Given the description of an element on the screen output the (x, y) to click on. 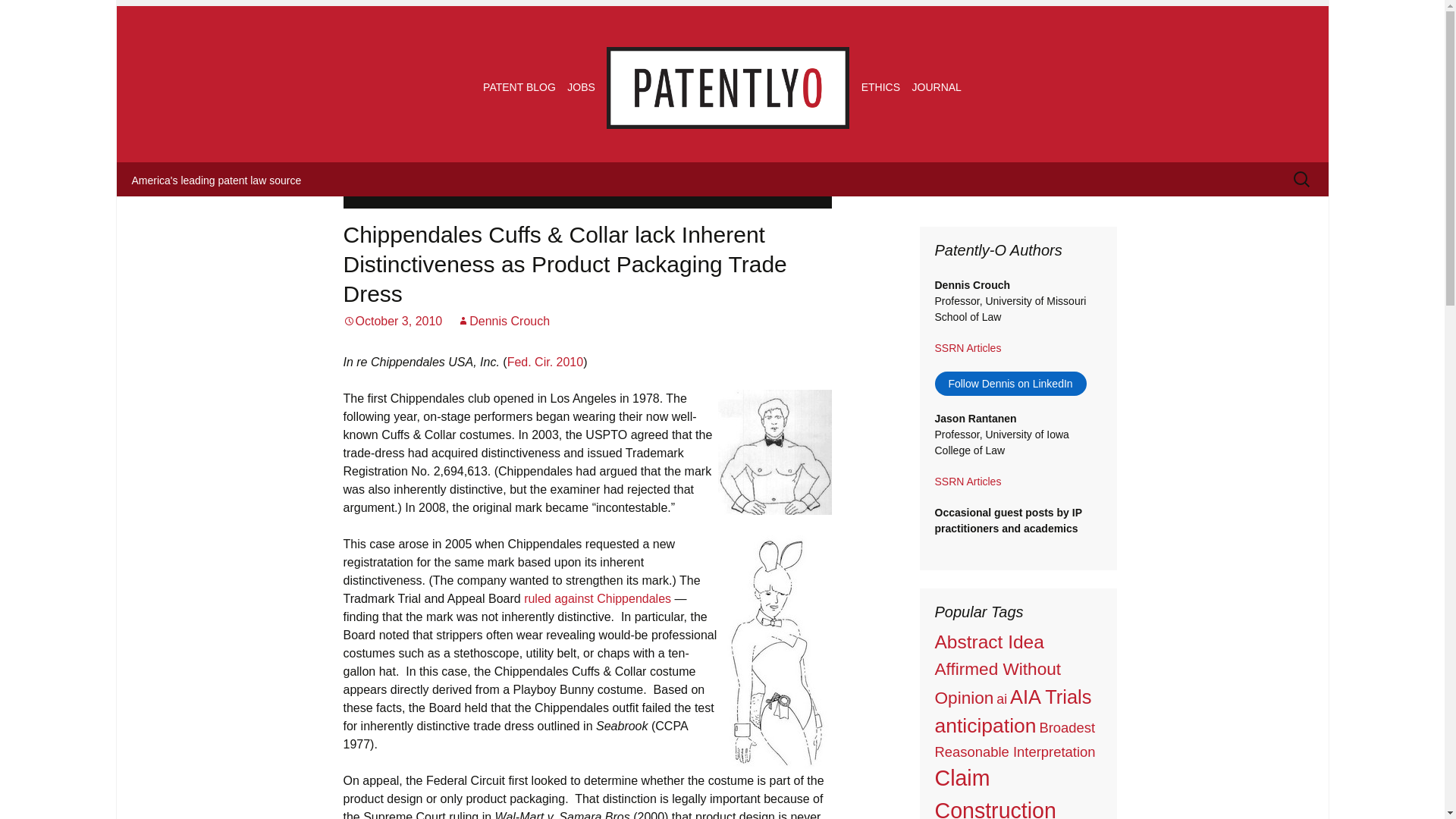
View all posts by Dennis Crouch (503, 320)
October 3, 2010 (392, 320)
Fed. Cir. 2010 (544, 361)
Dennis Crouch (503, 320)
Patent Law Journal from Patently-O (936, 87)
PATENT BLOG (519, 87)
SSRN Articles (967, 347)
Patent law and IP law jobs from Patently-O (581, 87)
ETHICS (880, 87)
ruled against Chippendales (597, 598)
